Given the description of an element on the screen output the (x, y) to click on. 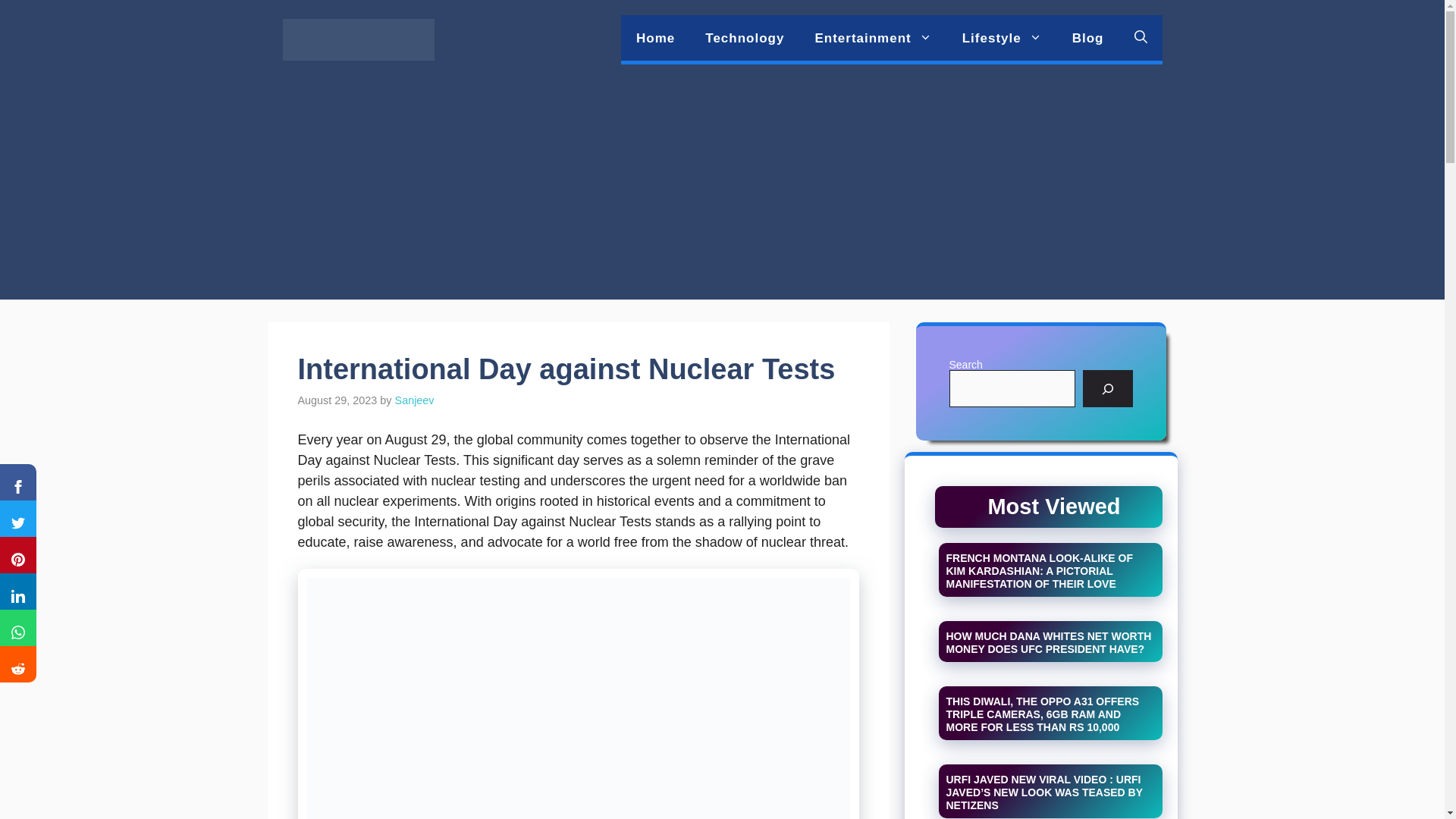
Entertainment (872, 38)
Technology (744, 38)
Home (655, 38)
Blog (1088, 38)
Lifestyle (1002, 38)
View all posts by Sanjeev (413, 399)
Sanjeev (413, 399)
